Given the description of an element on the screen output the (x, y) to click on. 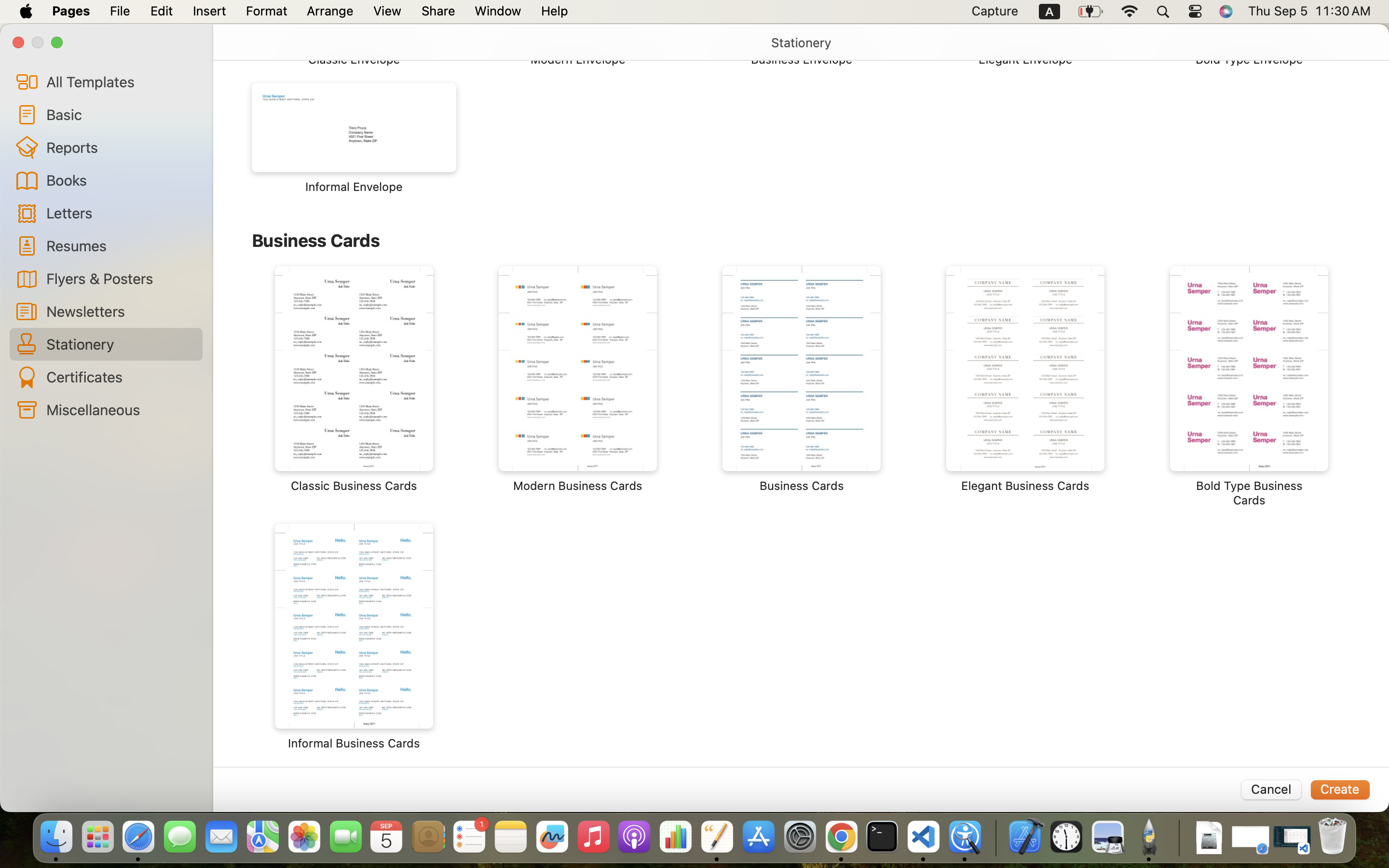
Flyers & Posters Element type: AXStaticText (120, 278)
All Templates Element type: AXStaticText (120, 81)
‎⁨Informal Envelope⁩ Element type: AXButton (353, 138)
Resumes Element type: AXStaticText (120, 245)
